Given the description of an element on the screen output the (x, y) to click on. 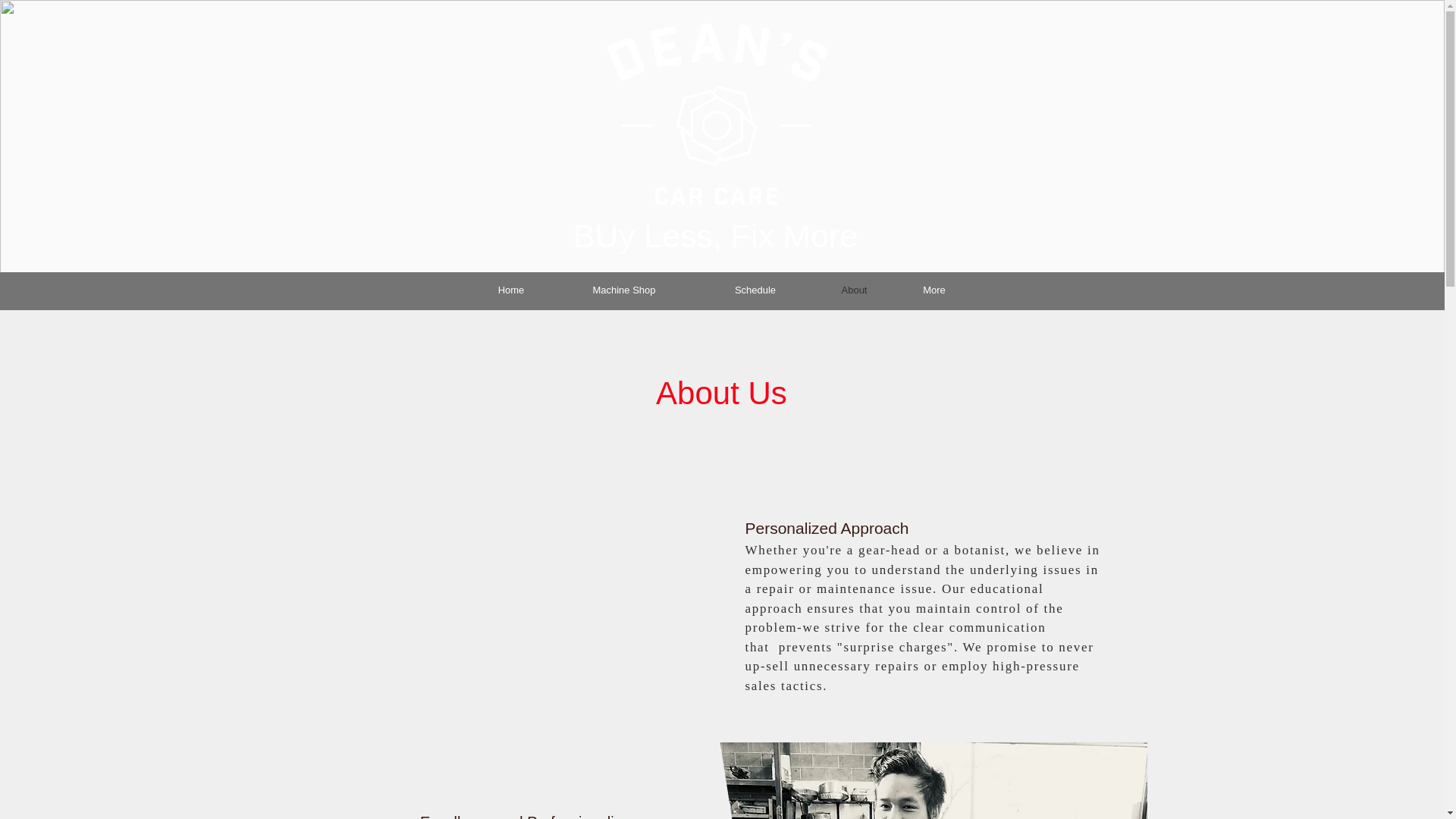
Machine Shop (623, 290)
Schedule (755, 290)
About (853, 290)
BUy Less, Fix More (715, 235)
Home (511, 290)
